Given the description of an element on the screen output the (x, y) to click on. 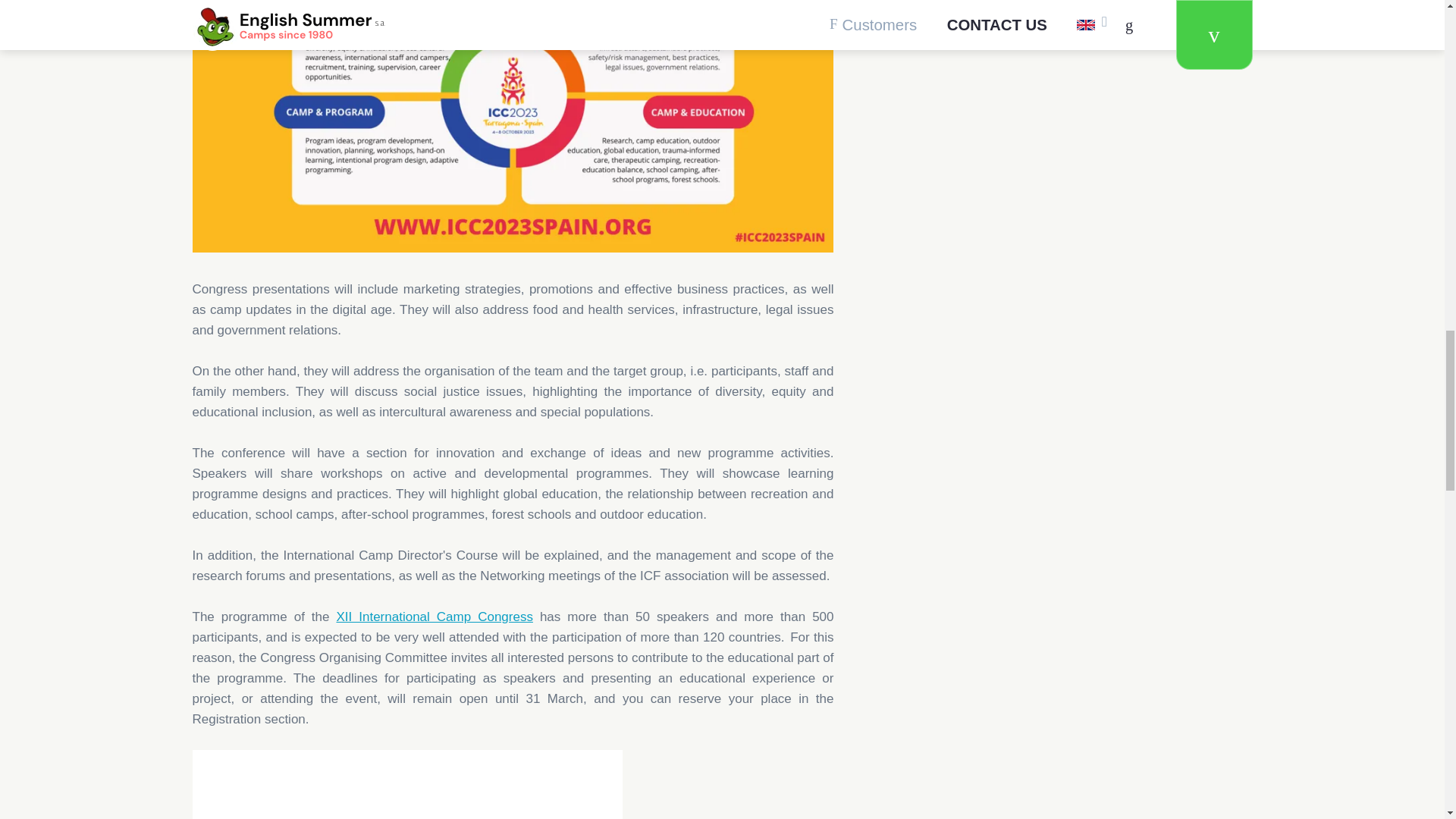
XII International Camp Congress (434, 616)
